Given the description of an element on the screen output the (x, y) to click on. 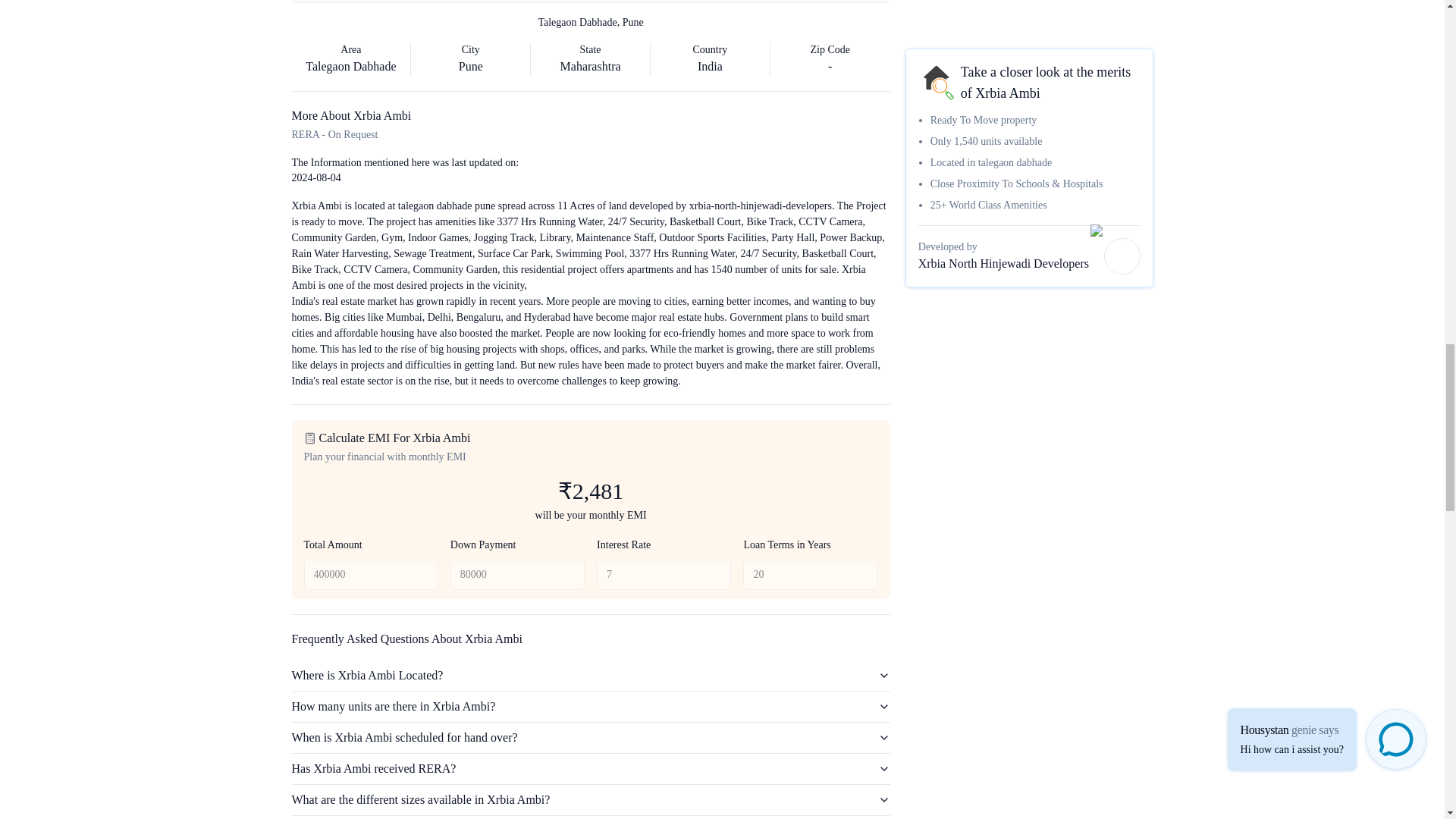
Has Xrbia Ambi received RERA? (590, 768)
How many units are there in Xrbia Ambi? (590, 706)
Where is Xrbia Ambi Located? (590, 675)
When is Xrbia Ambi scheduled for hand over? (590, 737)
400000 (370, 574)
7 (663, 574)
80000 (517, 574)
20 (809, 574)
What are the different sizes available in Xrbia Ambi? (590, 799)
